Given the description of an element on the screen output the (x, y) to click on. 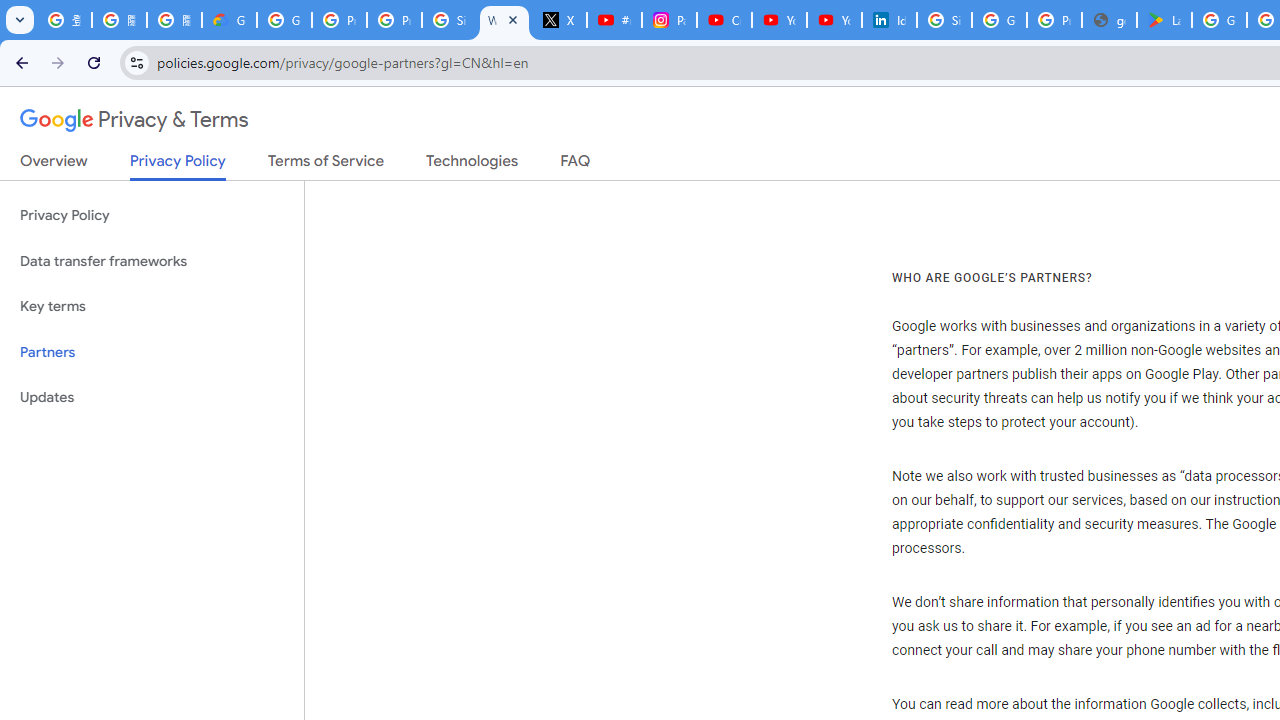
Google Cloud Privacy Notice (229, 20)
Privacy Help Center - Policies Help (394, 20)
Sign in - Google Accounts (943, 20)
#nbabasketballhighlights - YouTube (614, 20)
